Given the description of an element on the screen output the (x, y) to click on. 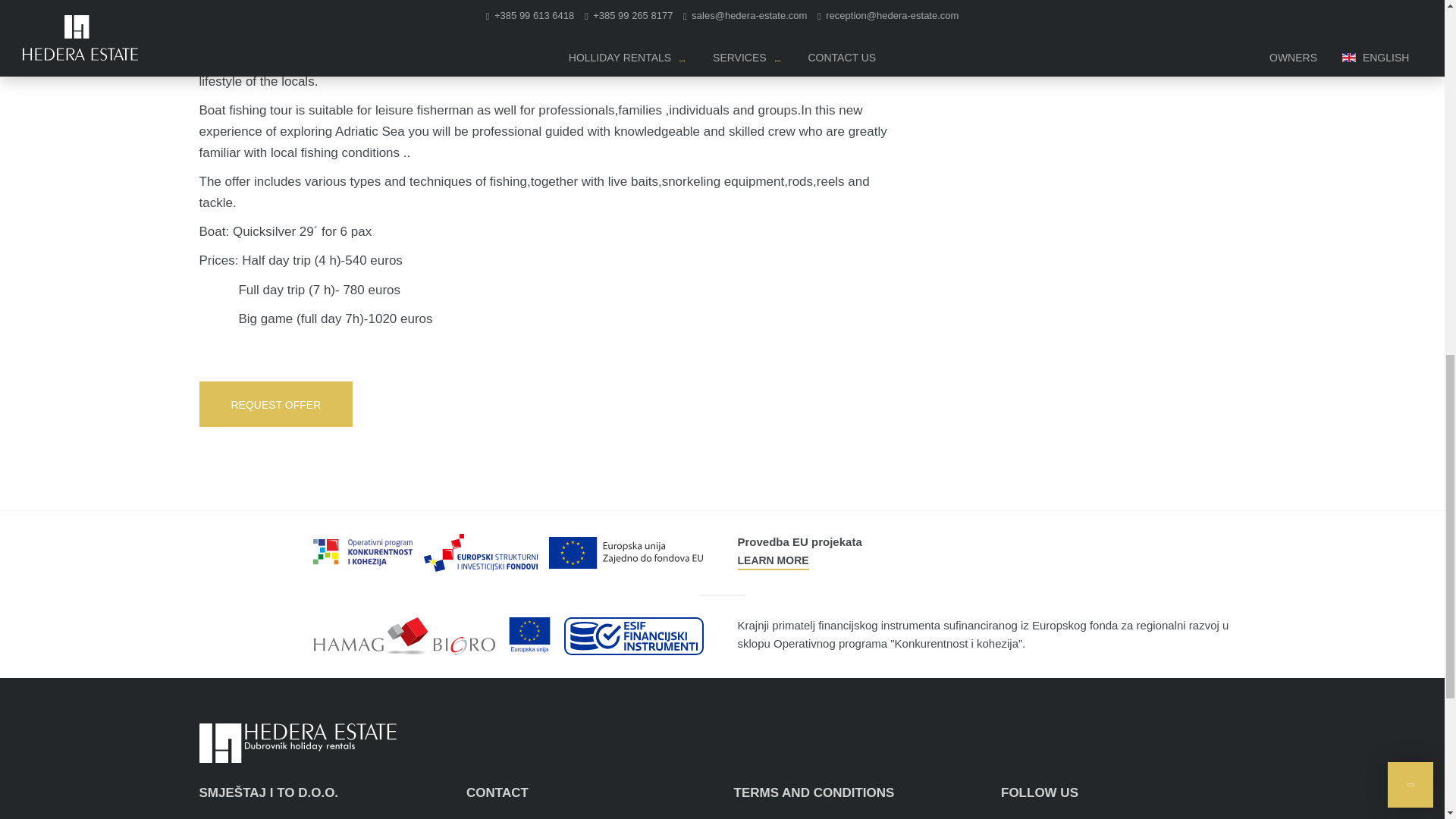
REQUEST OFFER (275, 403)
LEARN MORE (772, 560)
